Given the description of an element on the screen output the (x, y) to click on. 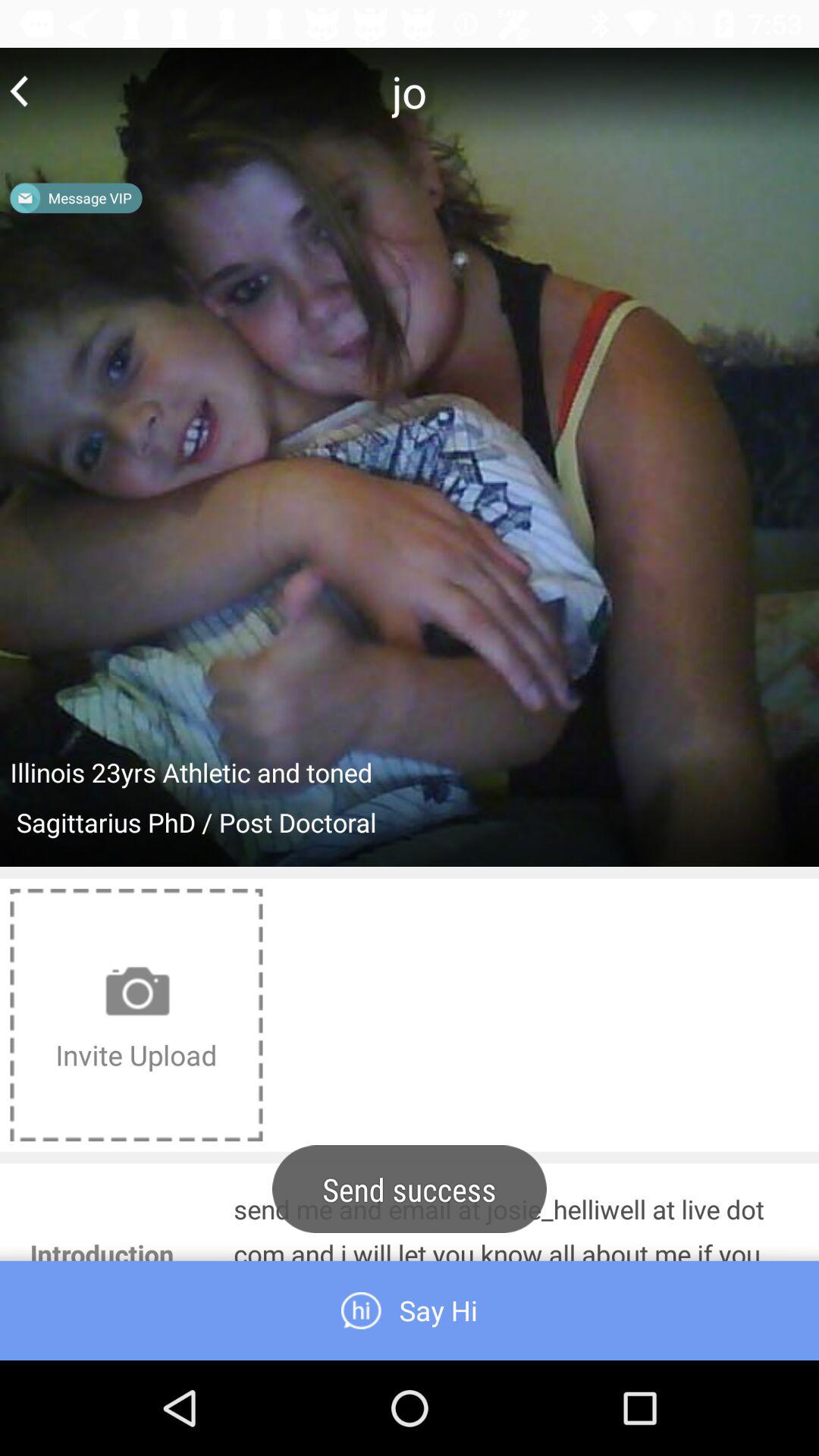
select the message icon in the image (25, 197)
click on the left scroll icon (18, 90)
click on the icon just below the image (136, 1014)
